Given the description of an element on the screen output the (x, y) to click on. 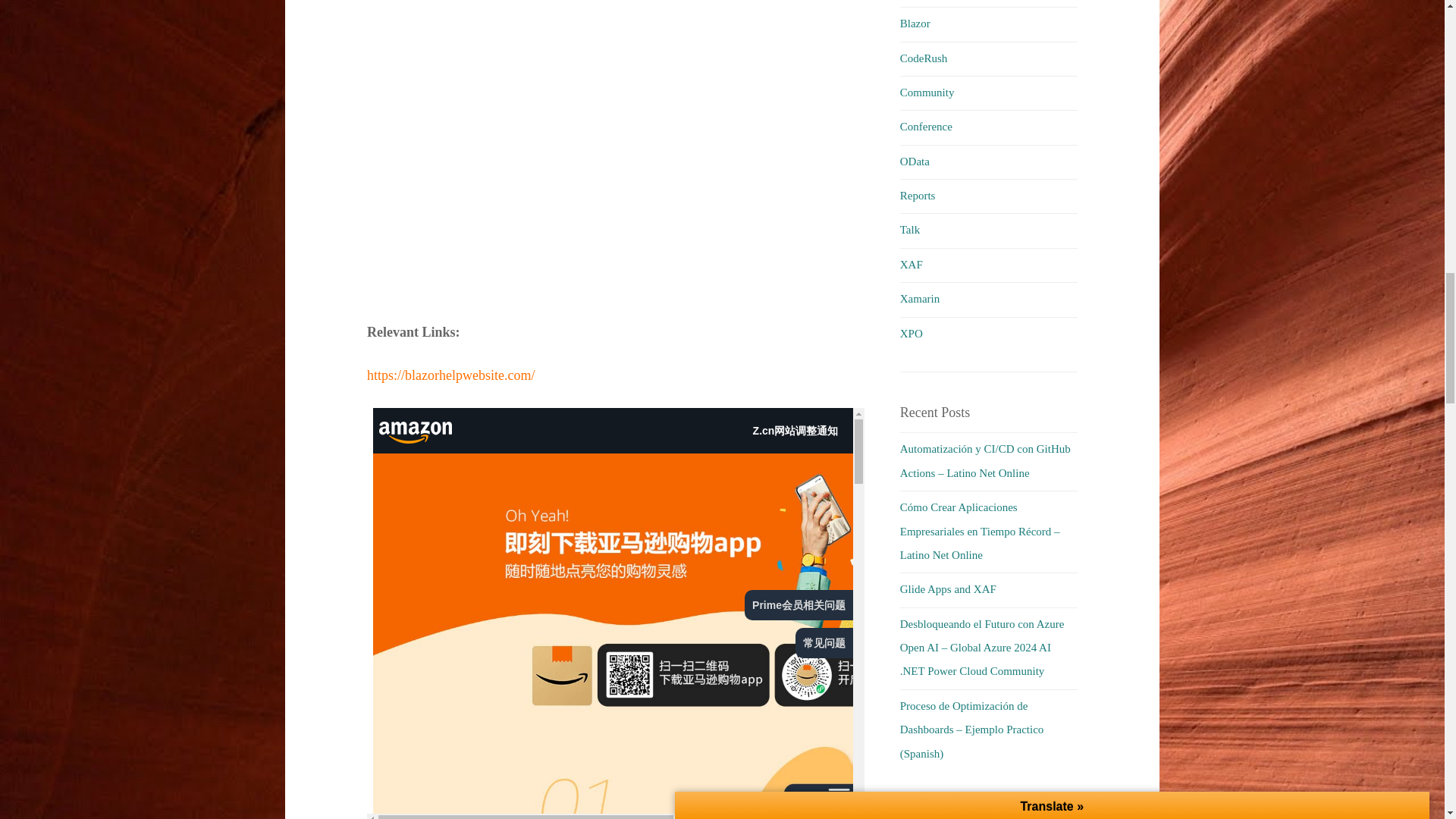
Talk (909, 229)
XPO (911, 333)
XAF (911, 264)
Glide Apps and XAF (947, 589)
Xamarin (919, 298)
OData (914, 161)
Community (927, 92)
CodeRush (923, 58)
Blazor (914, 23)
Reports (917, 195)
Conference (925, 126)
